Given the description of an element on the screen output the (x, y) to click on. 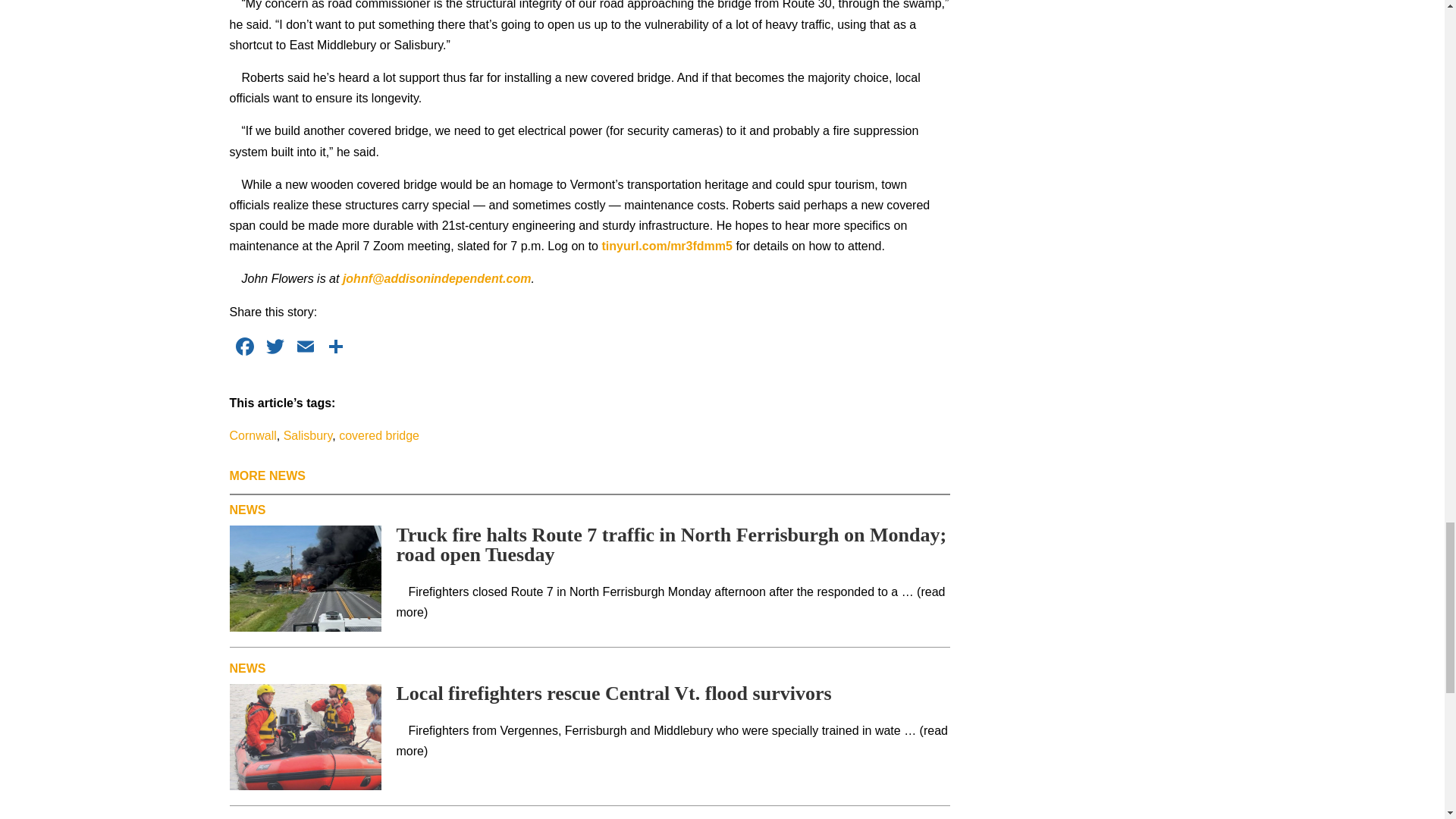
Email (304, 348)
Facebook (243, 348)
Twitter (274, 348)
